Given the description of an element on the screen output the (x, y) to click on. 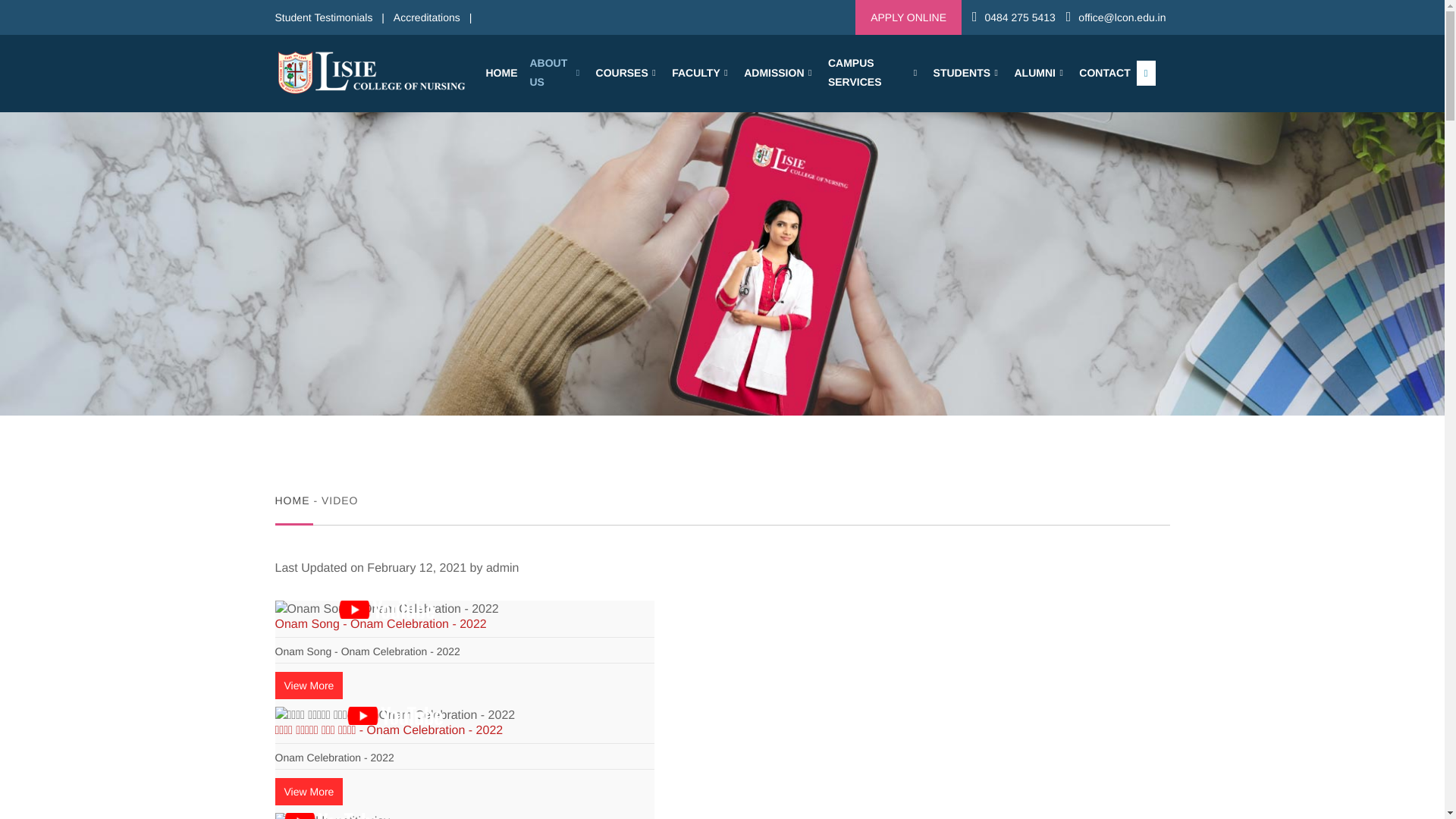
Onam Song - Onam Celebration - 2022 (386, 609)
HOME (500, 73)
ADMISSION (780, 73)
Student Testimonials (323, 17)
Accreditations (426, 17)
FACULTY (701, 73)
0484 275 5413 (1019, 17)
APPLY ONLINE (908, 17)
COURSES (627, 73)
CAMPUS SERVICES (874, 72)
ABOUT US (555, 72)
World hepatitis day (332, 816)
